Given the description of an element on the screen output the (x, y) to click on. 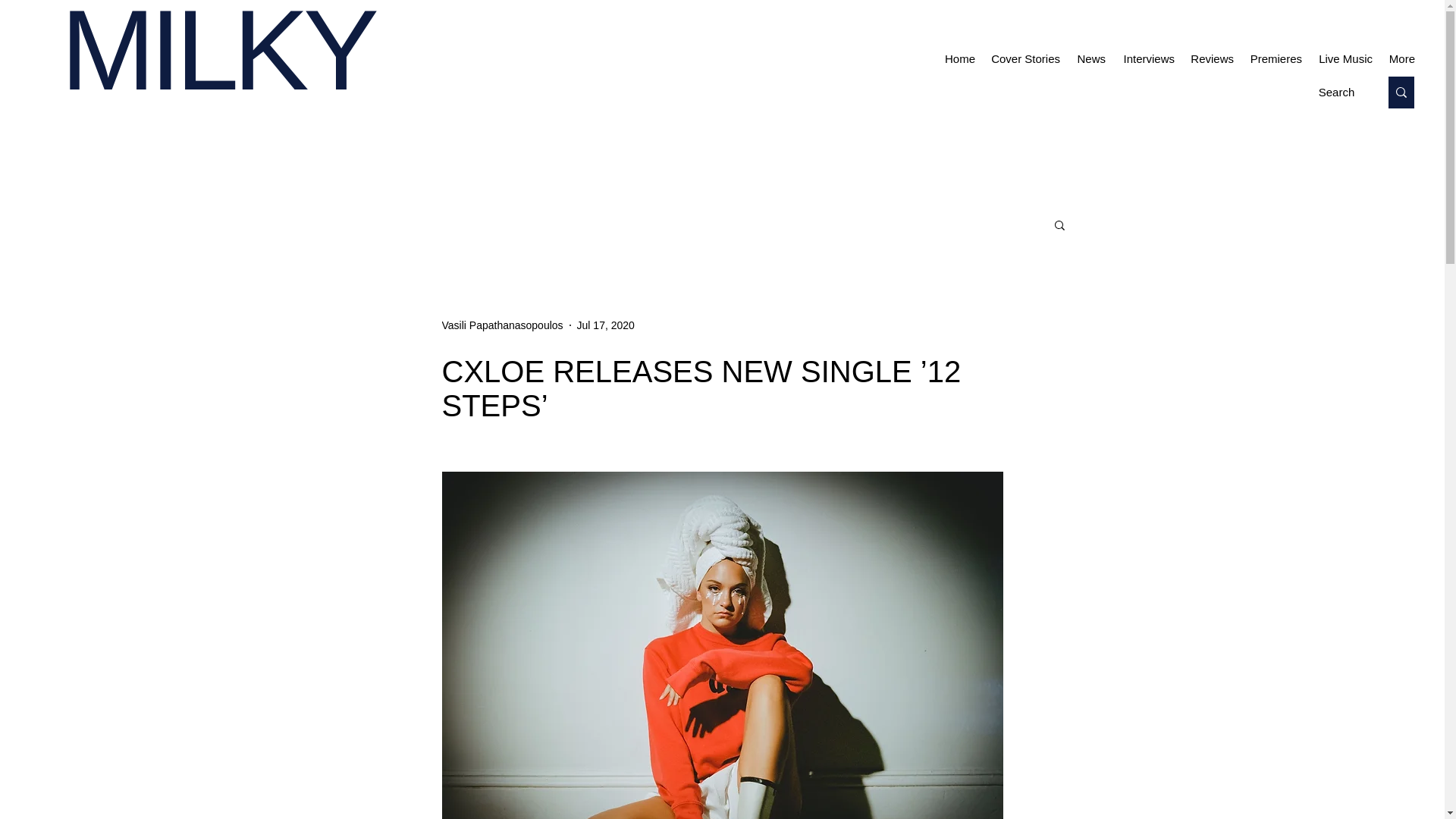
News (1090, 58)
Vasili Papathanasopoulos (501, 324)
MILKY (217, 56)
Live Music (1344, 58)
Cover Stories (1024, 58)
Jul 17, 2020 (605, 324)
Home (958, 58)
Reviews (1211, 58)
Premieres (1274, 58)
Interviews (1147, 58)
